Given the description of an element on the screen output the (x, y) to click on. 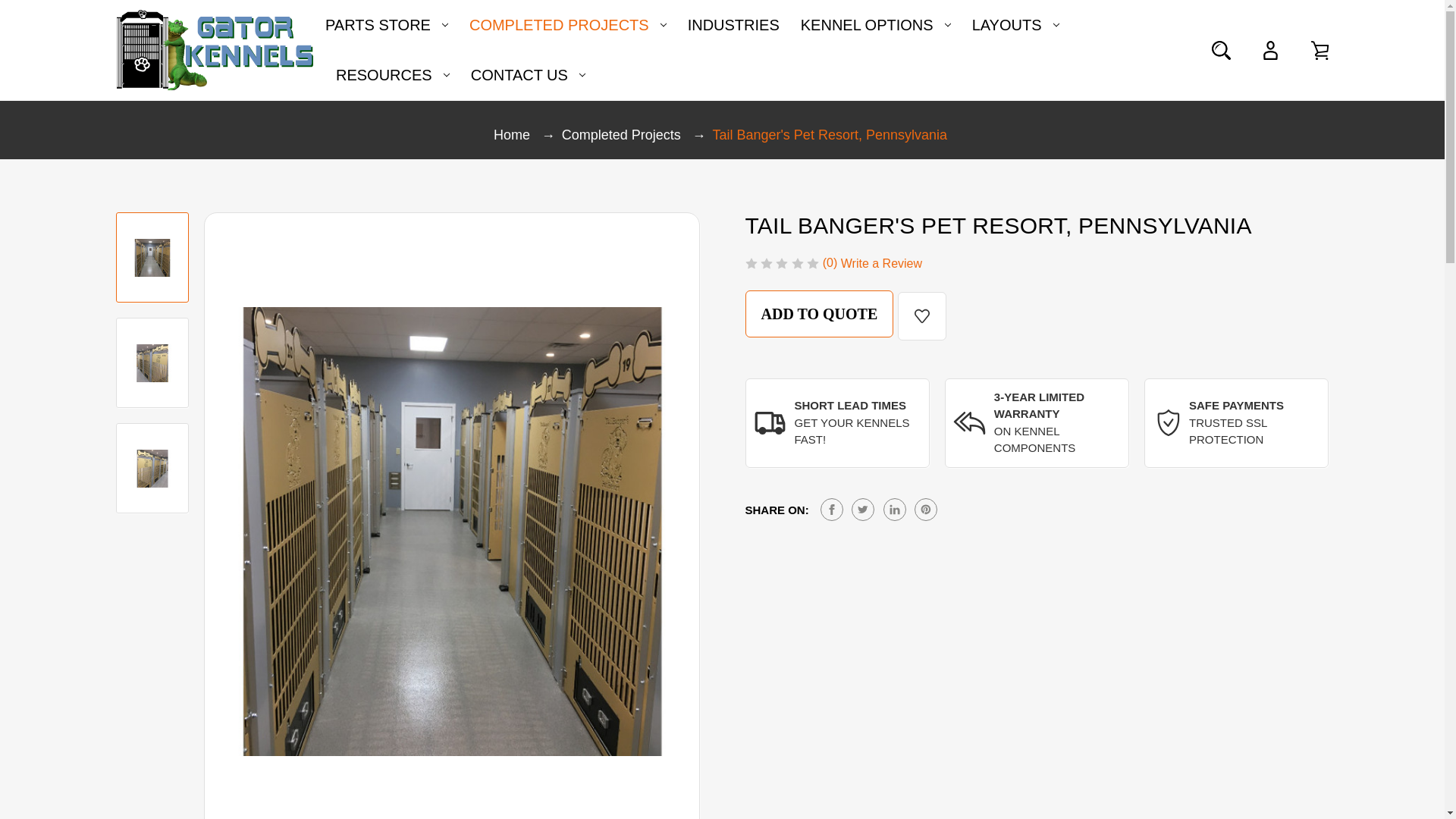
PARTS STORE (386, 24)
Tail Banger's Pet Resort custom gates. (152, 468)
Tail Banger's Pet Resort custom gates. (152, 362)
COMPLETED PROJECTS (567, 24)
User Account (1269, 49)
Gator Kennels (214, 49)
Twitter (863, 508)
Pinterest (925, 508)
Facebook (832, 508)
Tail Banger's Pet Resort custom gates. (152, 257)
Linkedin (894, 508)
